Given the description of an element on the screen output the (x, y) to click on. 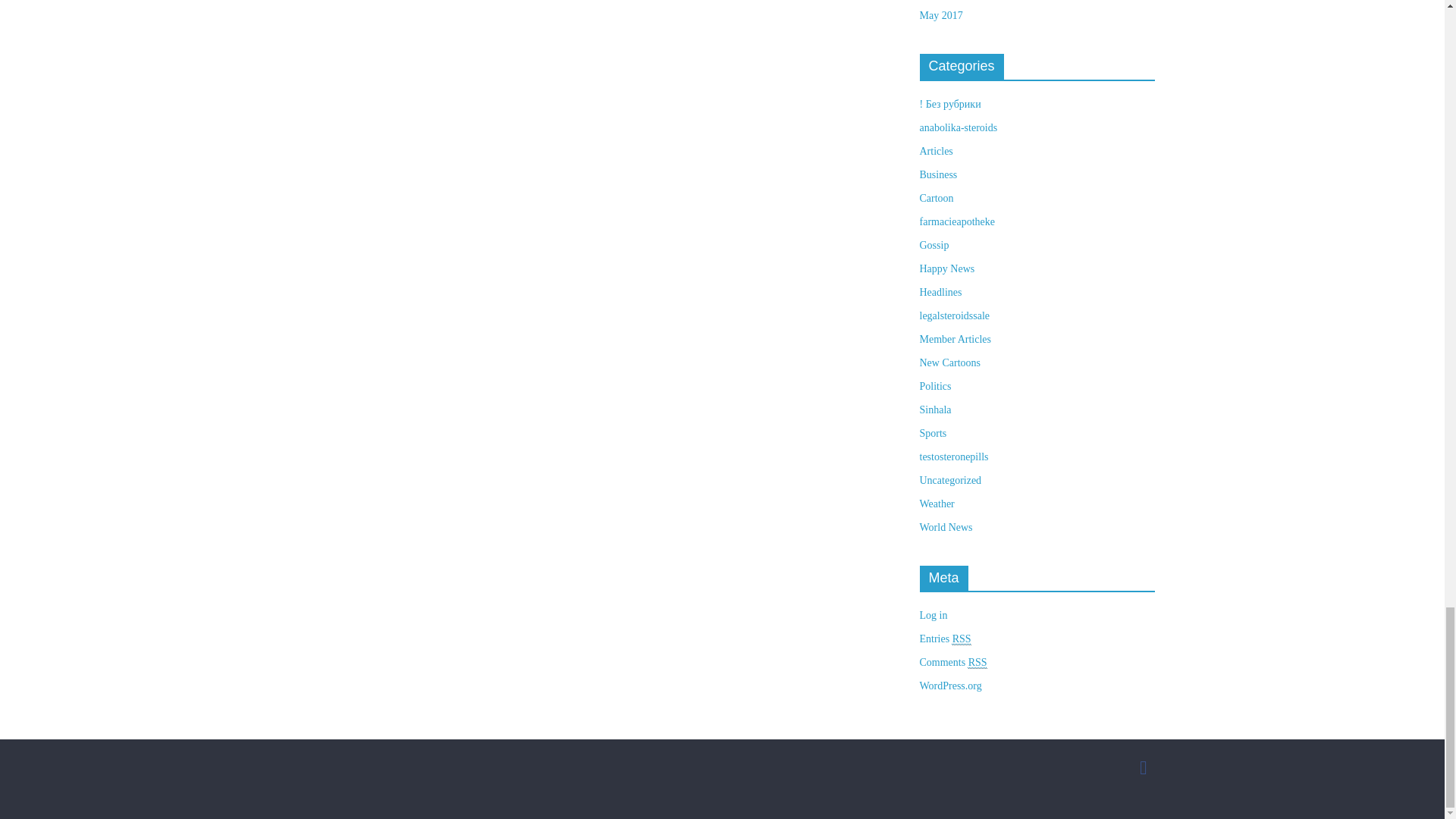
Really Simple Syndication (977, 662)
Really Simple Syndication (961, 639)
